Given the description of an element on the screen output the (x, y) to click on. 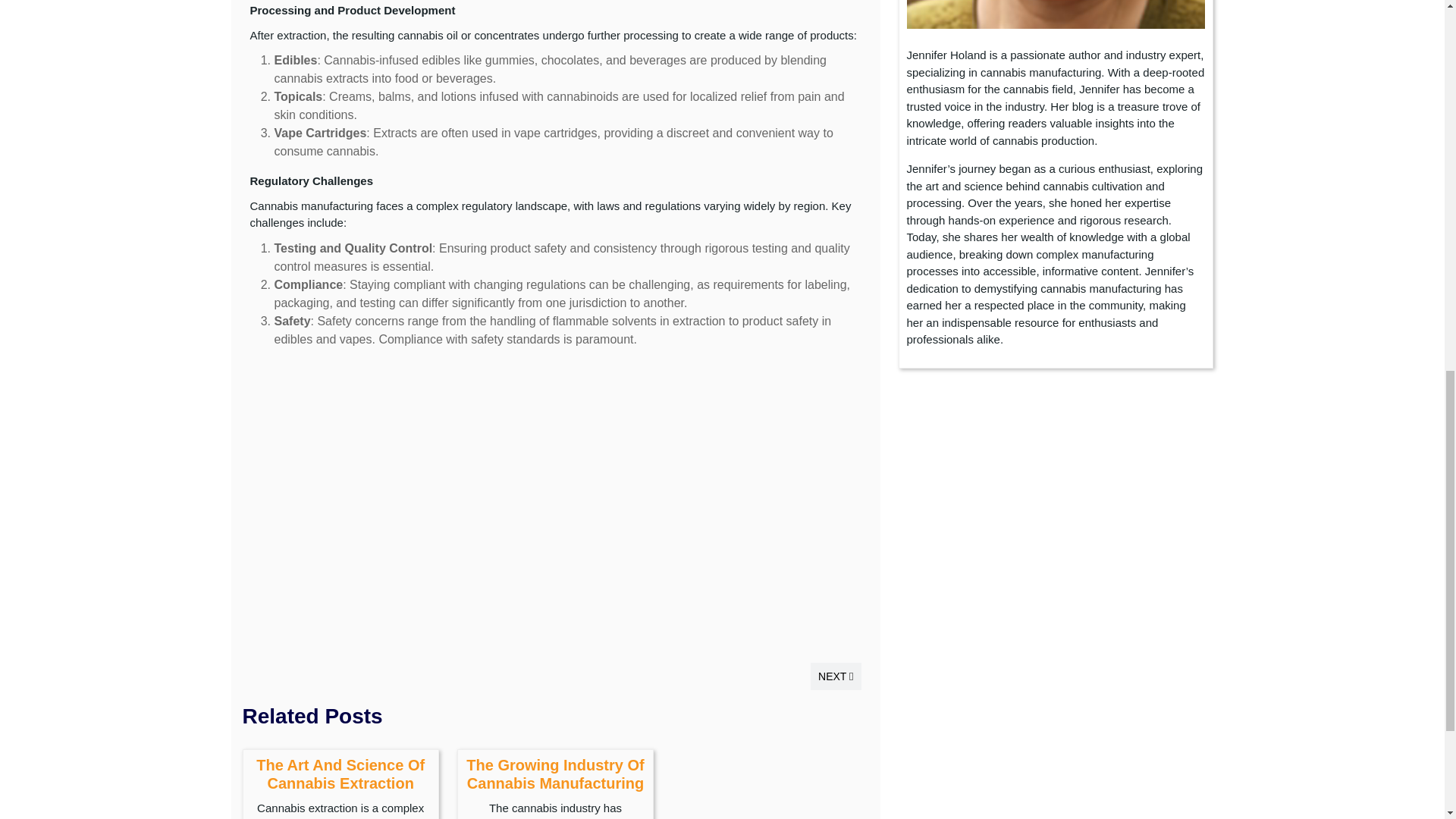
NEXT (835, 675)
The Art And Science Of Cannabis Extraction (340, 773)
The Growing Industry Of Cannabis Manufacturing (554, 773)
